Given the description of an element on the screen output the (x, y) to click on. 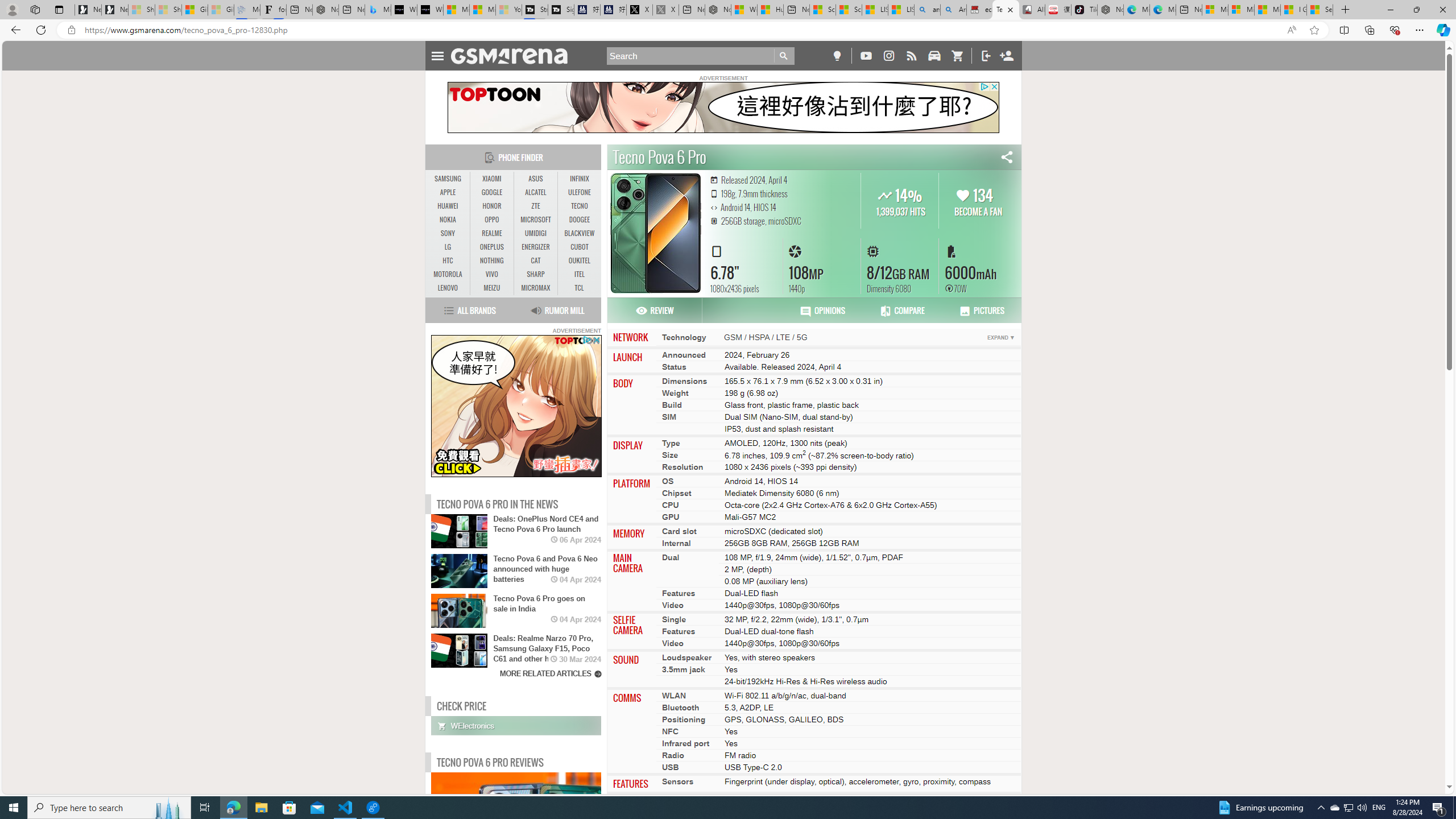
Microsoft Start Sports (456, 9)
To get missing image descriptions, open the context menu. (515, 405)
ITEL (579, 273)
Single (673, 619)
APPLE (448, 192)
LG (448, 246)
UMIDIGI (535, 233)
ENERGIZER (535, 246)
SONY (448, 233)
OPPO (491, 219)
